Given the description of an element on the screen output the (x, y) to click on. 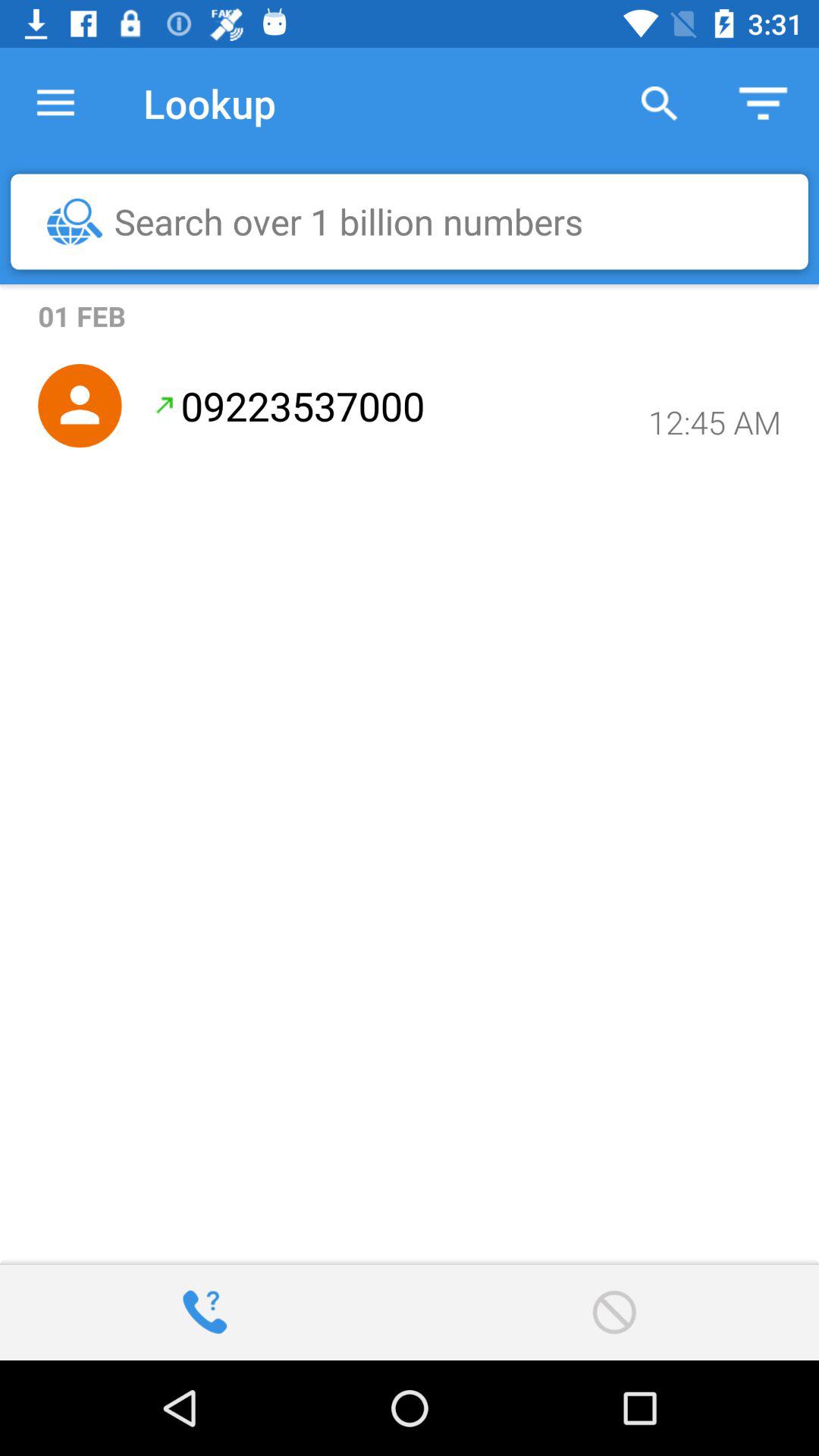
tap search over 1 item (417, 221)
